Given the description of an element on the screen output the (x, y) to click on. 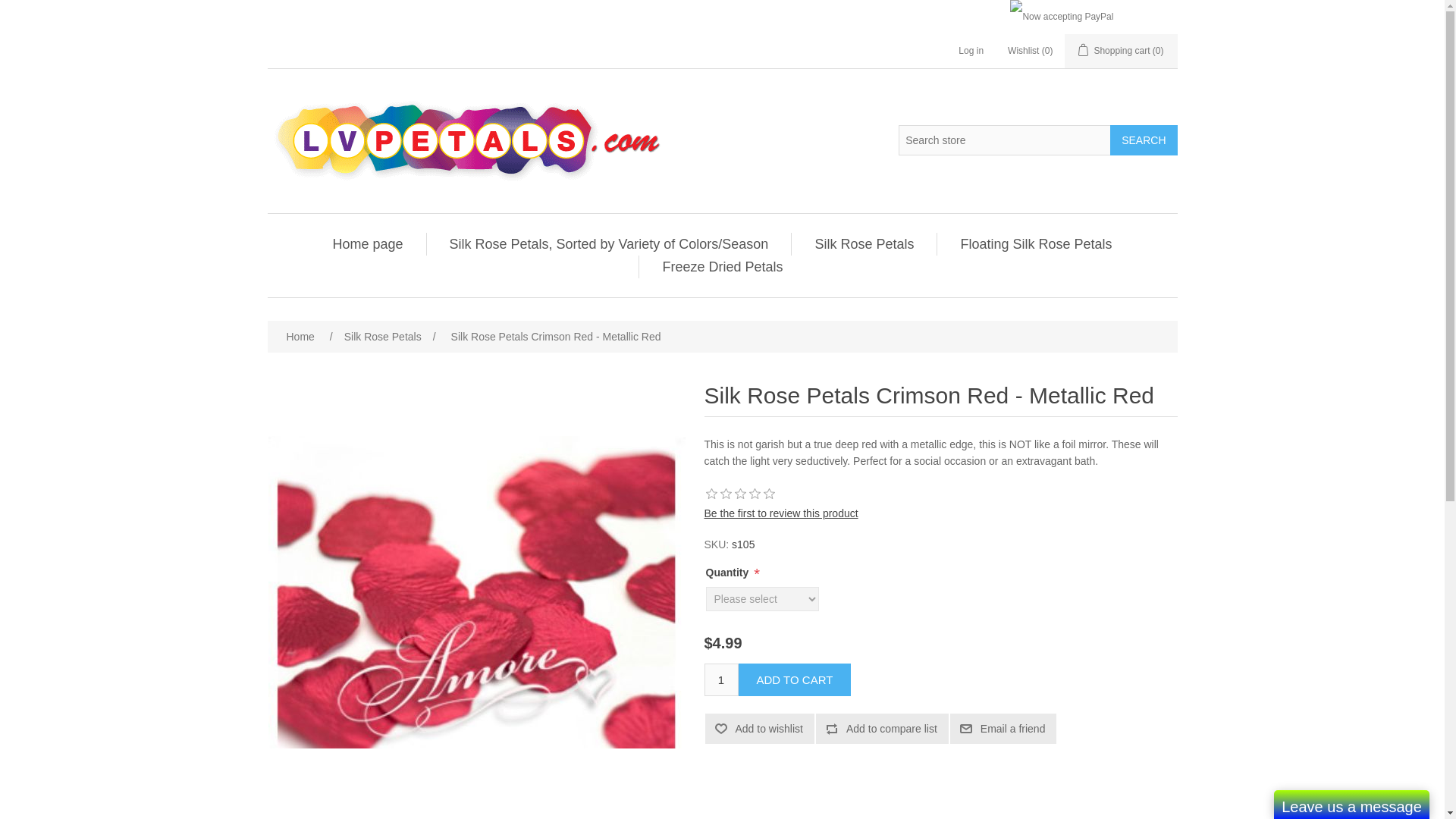
Silk Rose Petals (382, 336)
Silk Rose Petals (863, 243)
Add to wishlist (758, 728)
Home (299, 336)
Home page (367, 243)
ADD TO CART (794, 679)
Picture of Silk Rose Petals Crimson Red - Metallic Red (476, 591)
Email a friend (1003, 728)
Add to compare list (882, 728)
SEARCH (1142, 139)
Floating Silk Rose Petals (1035, 243)
Now accepting PayPal (1061, 17)
1 (720, 679)
Freeze Dried Petals (721, 266)
Be the first to review this product (780, 512)
